Given the description of an element on the screen output the (x, y) to click on. 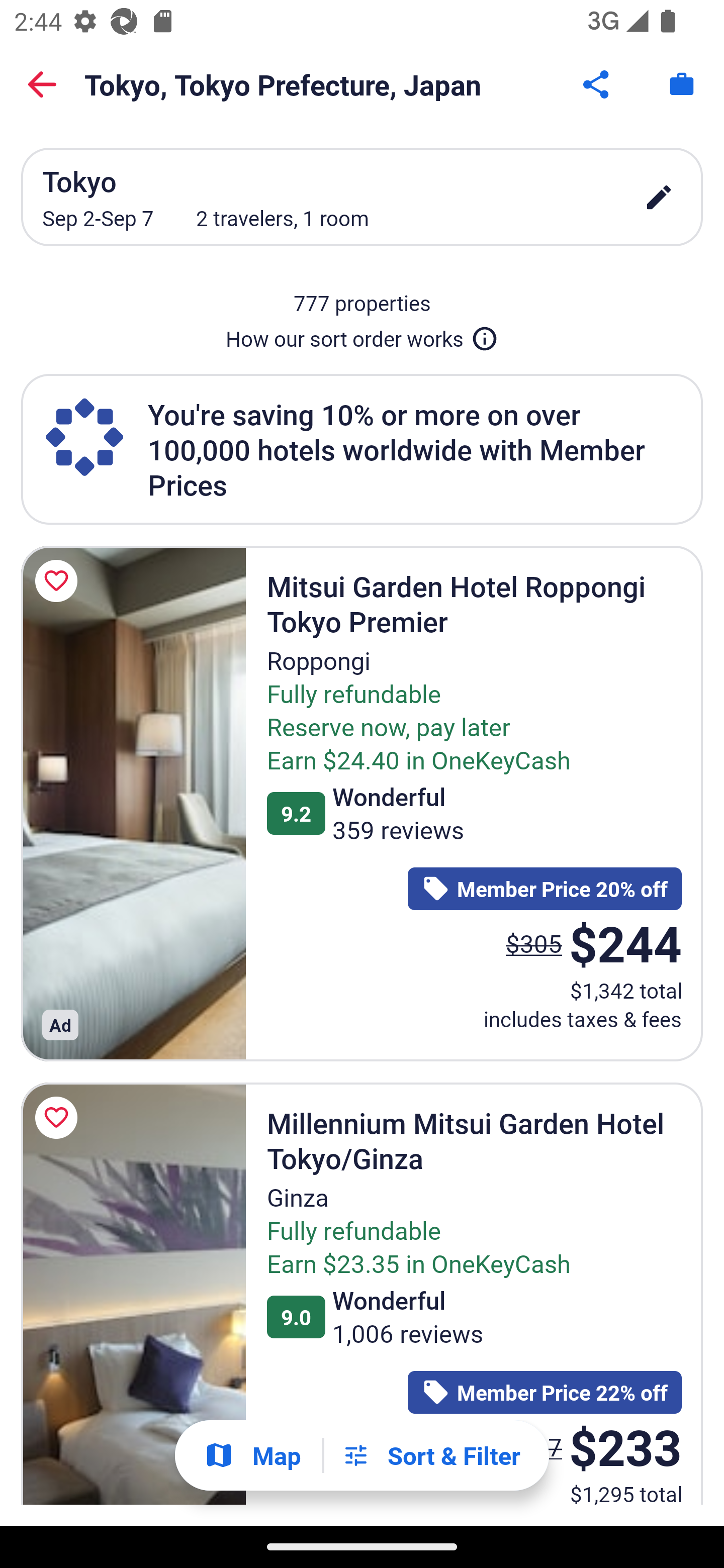
Back (42, 84)
Share Button (597, 84)
Trips. Button (681, 84)
Tokyo Sep 2-Sep 7 2 travelers, 1 room edit (361, 196)
How our sort order works (361, 334)
Mitsui Garden Hotel Roppongi Tokyo Premier (133, 803)
$305 The price was $305 (533, 943)
Millennium Mitsui Garden Hotel Tokyo/Ginza (133, 1293)
Filters Sort & Filter Filters Button (430, 1455)
Show map Map Show map Button (252, 1455)
